Given the description of an element on the screen output the (x, y) to click on. 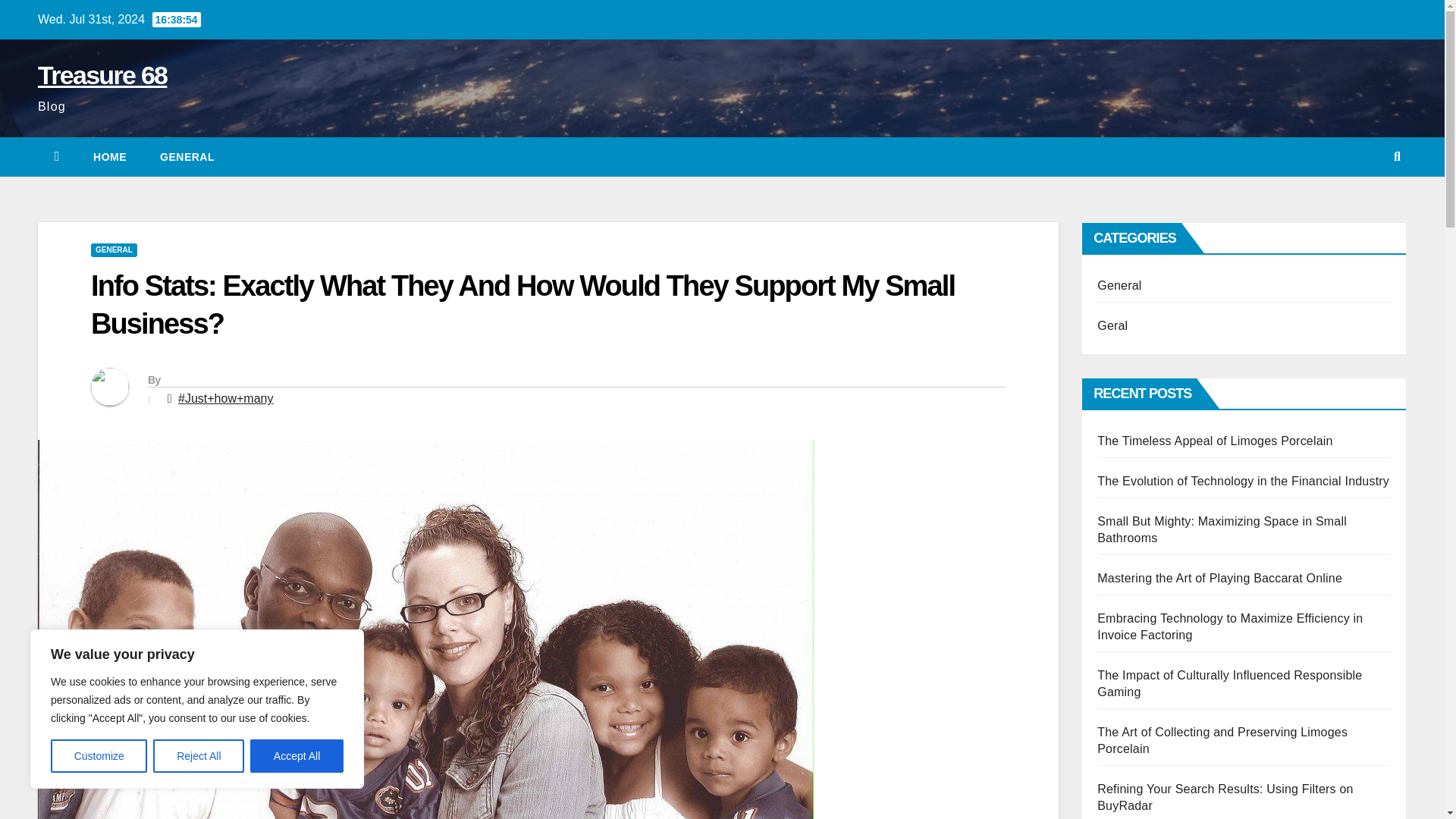
HOME (109, 156)
GENERAL (113, 250)
General (186, 156)
Customize (98, 756)
GENERAL (186, 156)
Treasure 68 (102, 74)
Reject All (198, 756)
Home (109, 156)
